Given the description of an element on the screen output the (x, y) to click on. 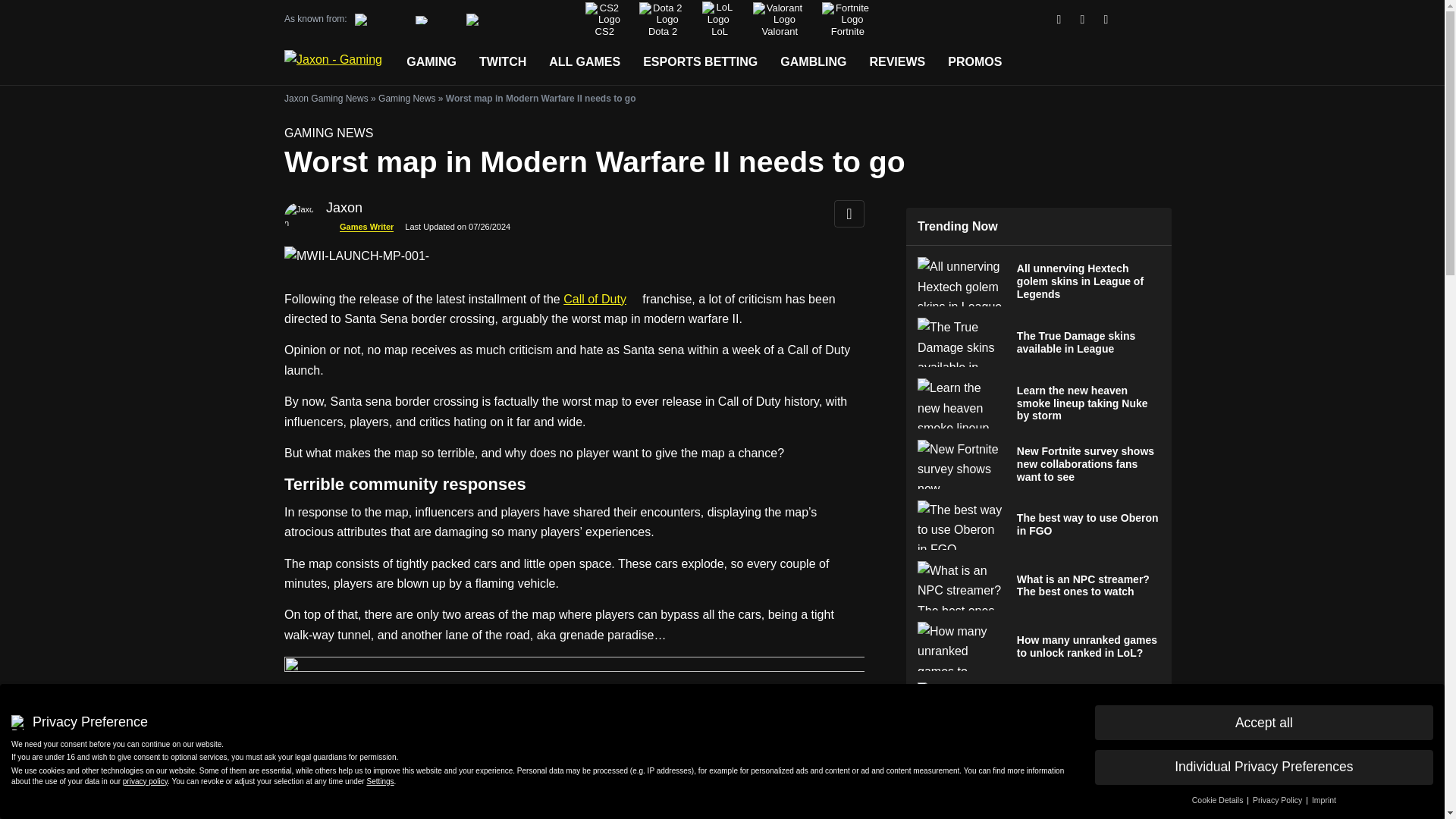
 CS2 (603, 19)
Google News (1058, 19)
GAMBLING (812, 62)
TikTok (1105, 19)
 Fortnite (846, 19)
GAMING (430, 62)
 Valorant (777, 19)
TWITCH (502, 62)
 LoL (718, 18)
Twitter (1082, 19)
 Dota 2 (661, 19)
